Given the description of an element on the screen output the (x, y) to click on. 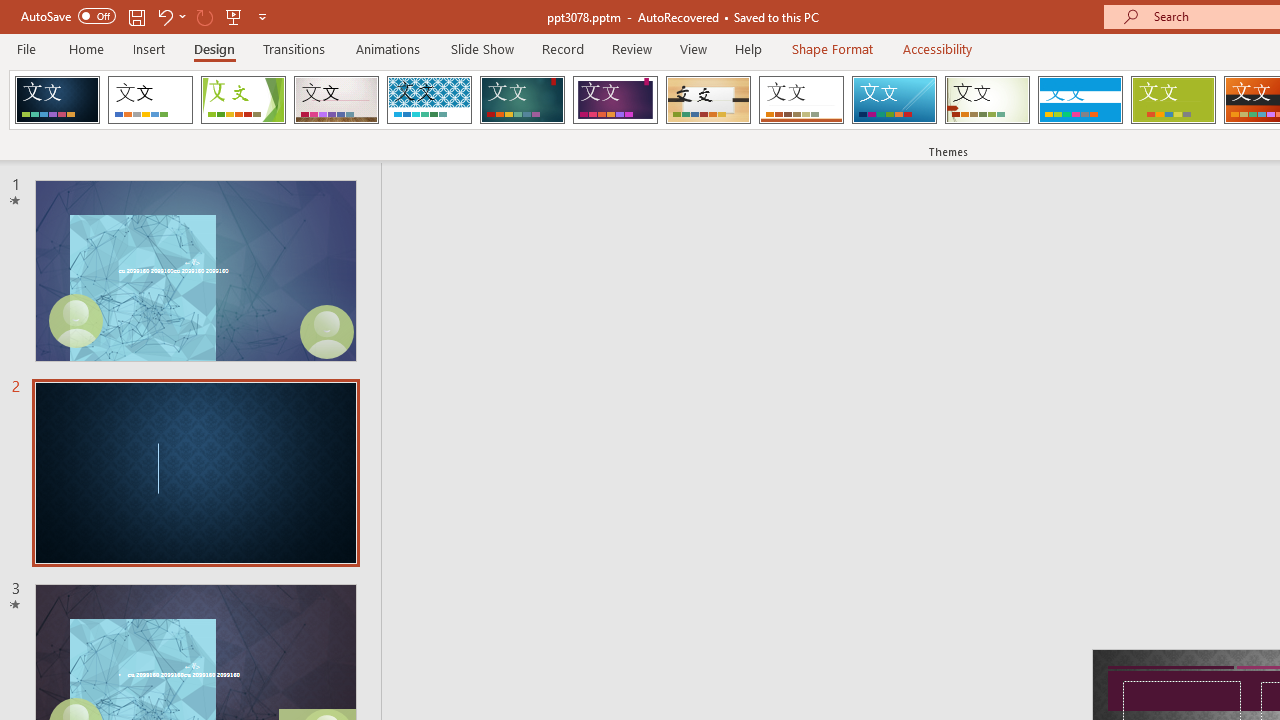
AutoSave (68, 16)
Office Theme (150, 100)
Redo (204, 15)
Integral (429, 100)
Shape Format (832, 48)
Save (136, 15)
Wisp (987, 100)
Review (631, 48)
Transitions (294, 48)
Home (86, 48)
Retrospect (801, 100)
Customize Quick Access Toolbar (262, 15)
